Given the description of an element on the screen output the (x, y) to click on. 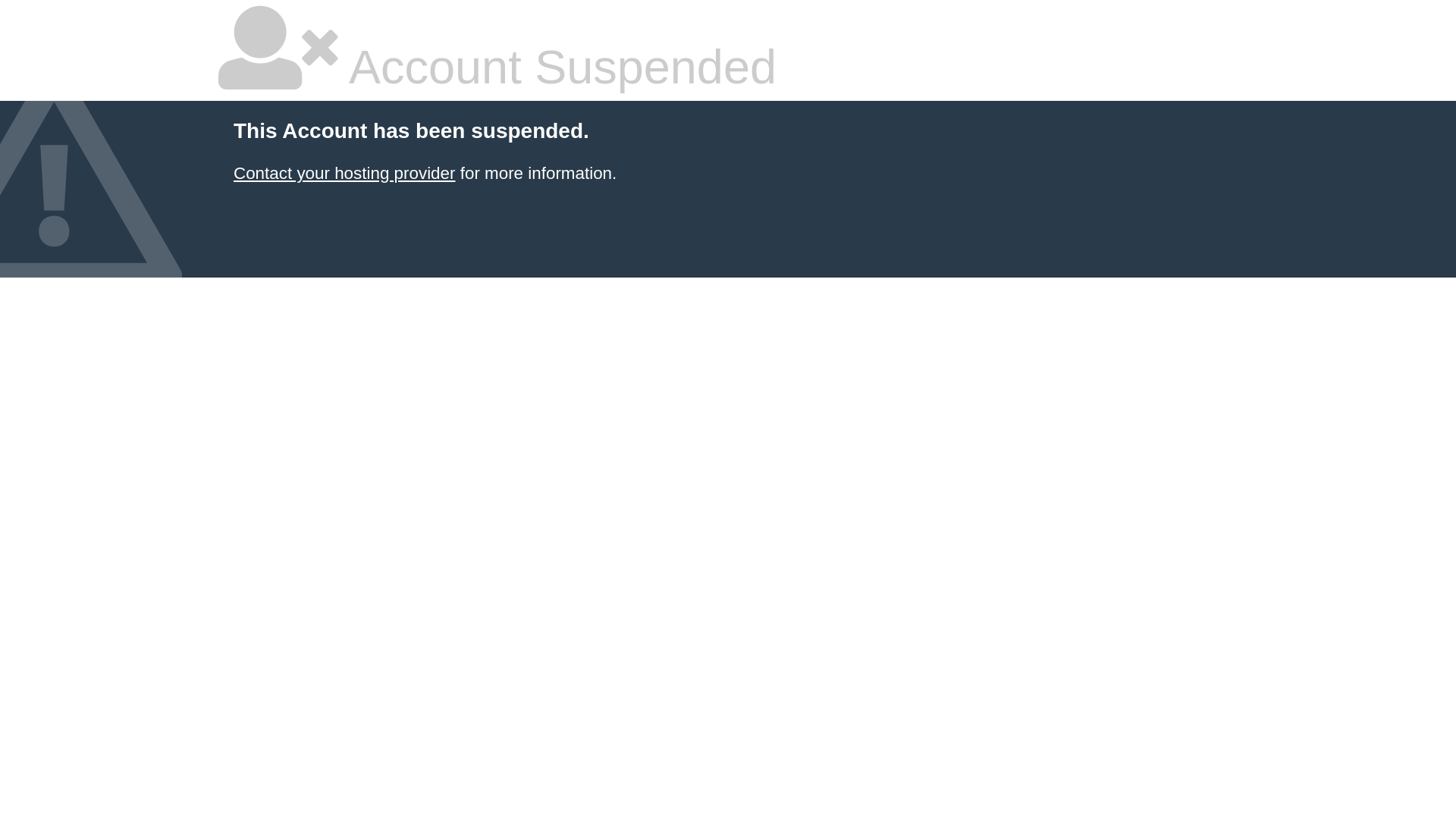
Contact your hosting provider Element type: text (344, 172)
